Given the description of an element on the screen output the (x, y) to click on. 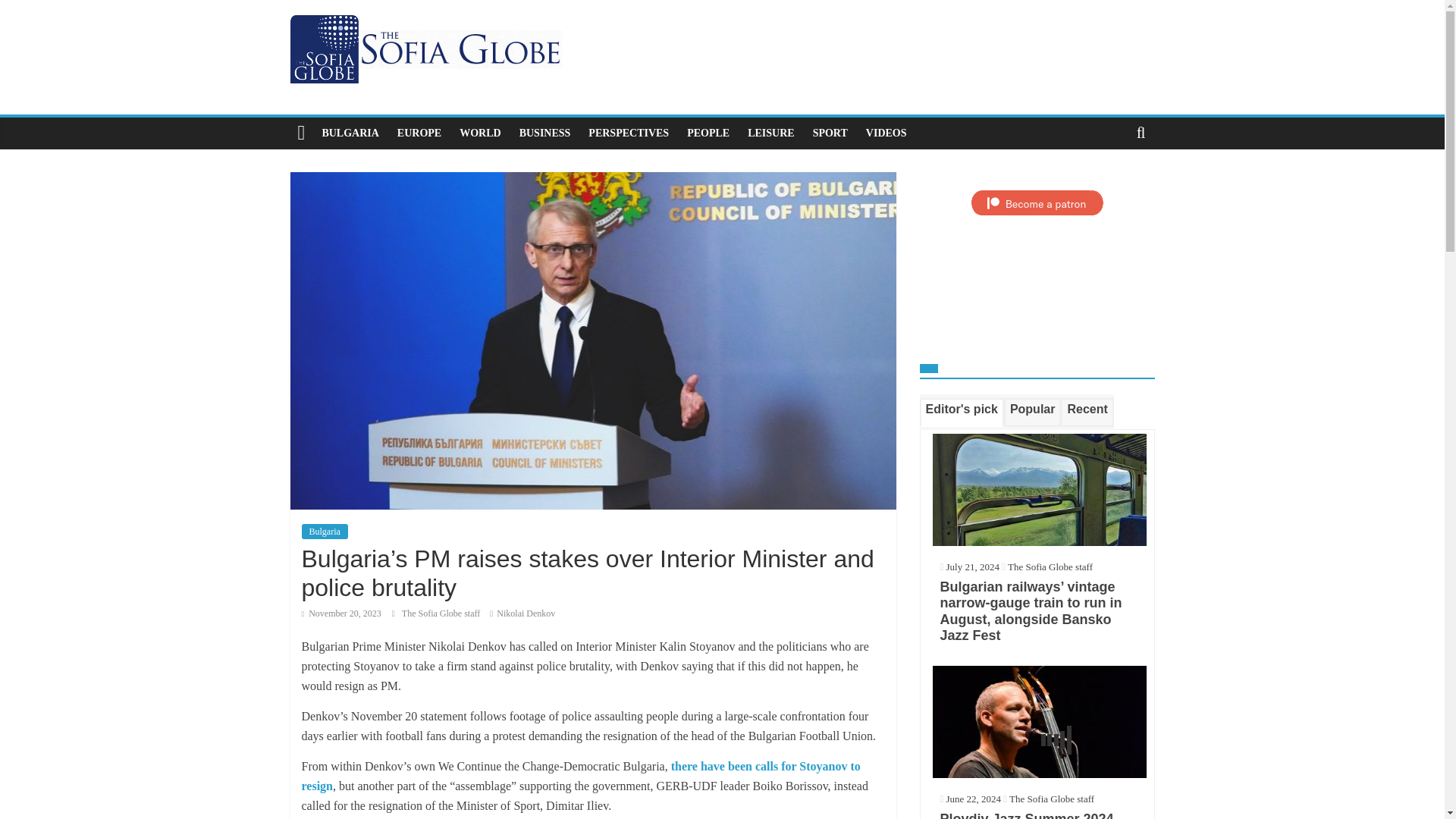
WORLD (479, 133)
Nikolai Denkov (525, 613)
November 20, 2023 (341, 613)
BULGARIA (350, 133)
SPORT (830, 133)
LEISURE (770, 133)
EUROPE (418, 133)
PEOPLE (708, 133)
Bulgaria (324, 531)
BUSINESS (545, 133)
5:08 PM (341, 613)
The Sofia Globe staff (441, 613)
there have been calls for Stoyanov to resign (580, 776)
The Sofia Globe staff (441, 613)
PERSPECTIVES (628, 133)
